Given the description of an element on the screen output the (x, y) to click on. 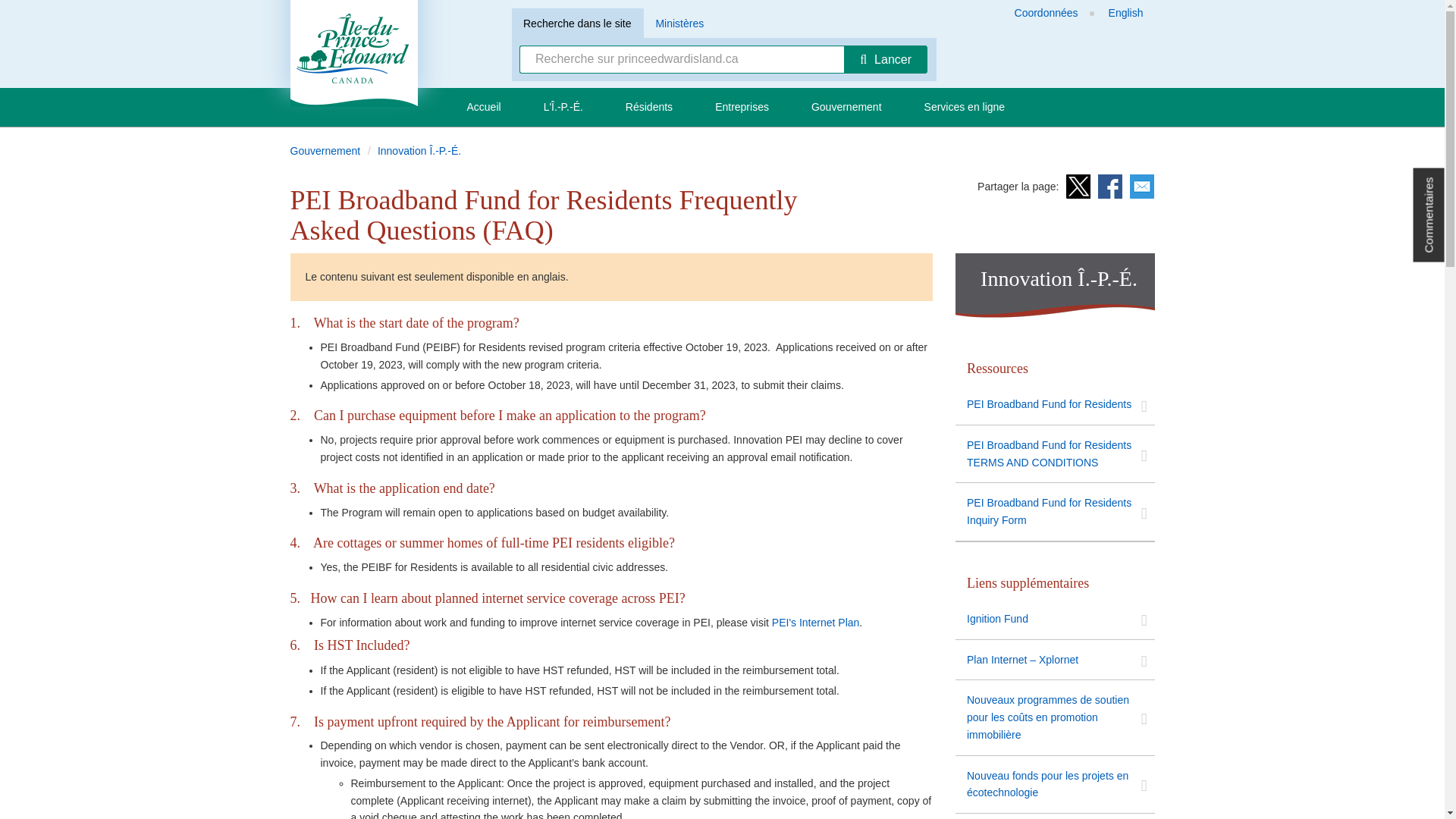
Lancer (885, 59)
Share this page on X (1077, 186)
English (1125, 13)
Recherche dans le site (577, 23)
Accueil (484, 106)
Prince Edward Island (352, 53)
Prince Edward Island (352, 53)
Partagez cette page via Facebook (1109, 186)
